Given the description of an element on the screen output the (x, y) to click on. 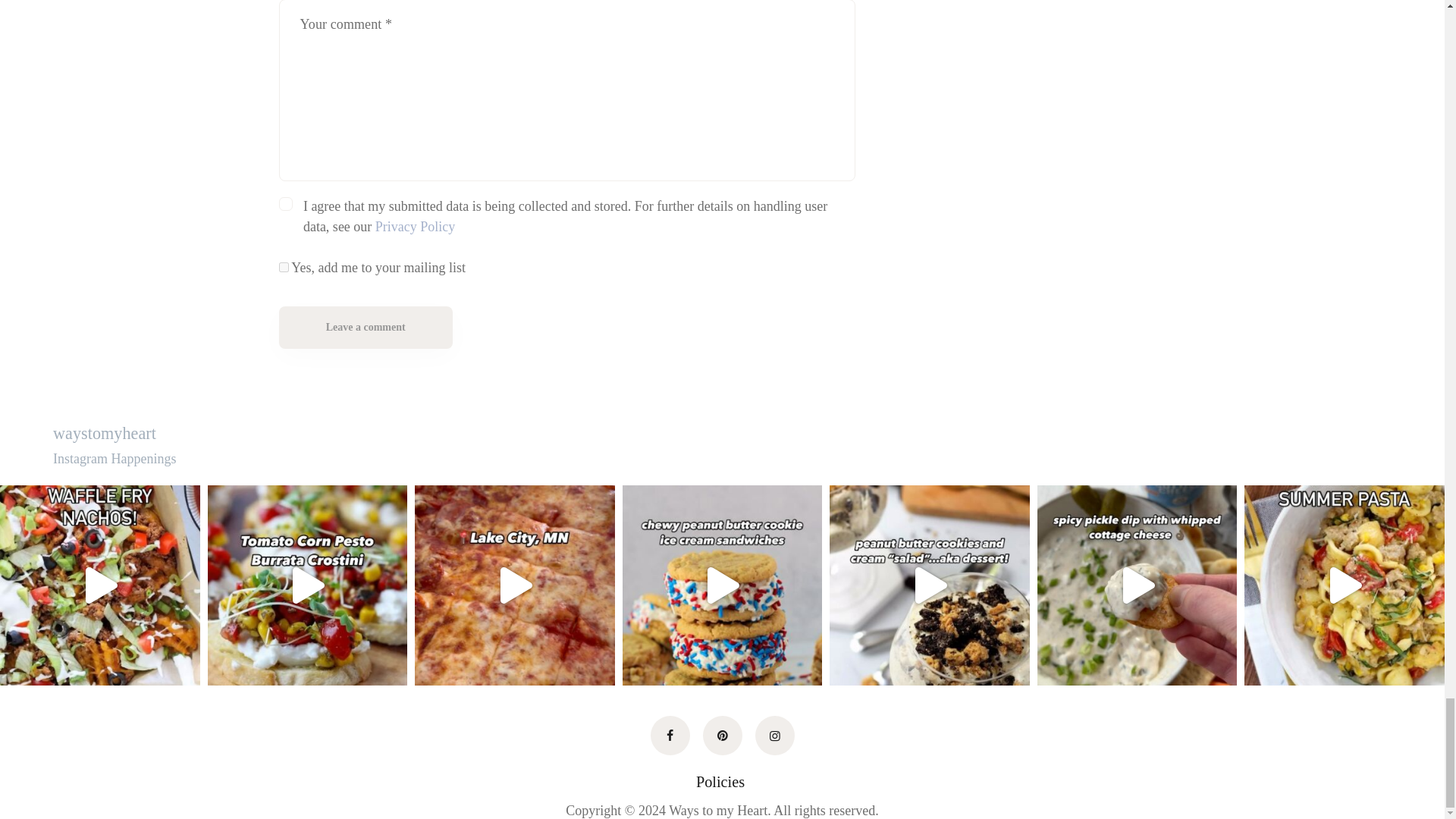
1 (283, 266)
Leave a comment (365, 327)
